Given the description of an element on the screen output the (x, y) to click on. 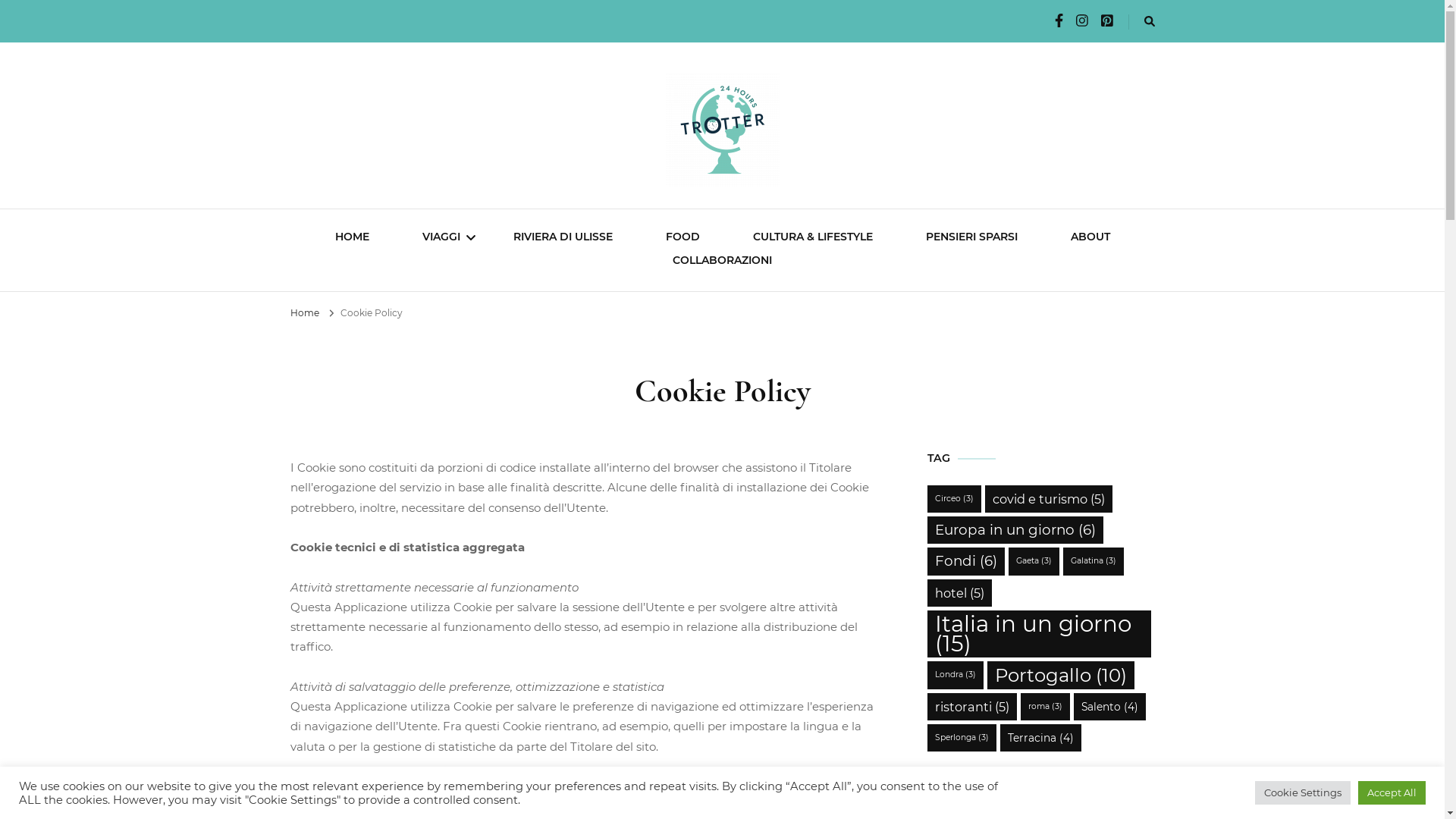
VIAGGI Element type: text (440, 237)
Cookie Settings Element type: text (1302, 792)
Galatina (3) Element type: text (1093, 560)
CULTURA & LIFESTYLE Element type: text (812, 237)
Sperlonga (3) Element type: text (960, 737)
FOOD Element type: text (682, 237)
roma (3) Element type: text (1045, 706)
COLLABORAZIONI Element type: text (721, 261)
HOME Element type: text (352, 237)
Cookie Policy Element type: text (370, 312)
covid e turismo (5) Element type: text (1047, 498)
Londra (3) Element type: text (954, 674)
Circeo (3) Element type: text (953, 498)
Accept All Element type: text (1391, 792)
Terracina (4) Element type: text (1039, 737)
Salento (4) Element type: text (1109, 706)
ristoranti (5) Element type: text (971, 706)
Gaeta (3) Element type: text (1033, 560)
hotel (5) Element type: text (958, 592)
Europa in un giorno (6) Element type: text (1014, 529)
Italia in un giorno (15) Element type: text (1038, 634)
PENSIERI SPARSI Element type: text (970, 237)
Fondi (6) Element type: text (965, 560)
RIVIERA DI ULISSE Element type: text (561, 237)
24 Hours Trotter Element type: text (463, 214)
ABOUT Element type: text (1090, 237)
Home Element type: text (303, 312)
Portogallo (10) Element type: text (1060, 674)
